Given the description of an element on the screen output the (x, y) to click on. 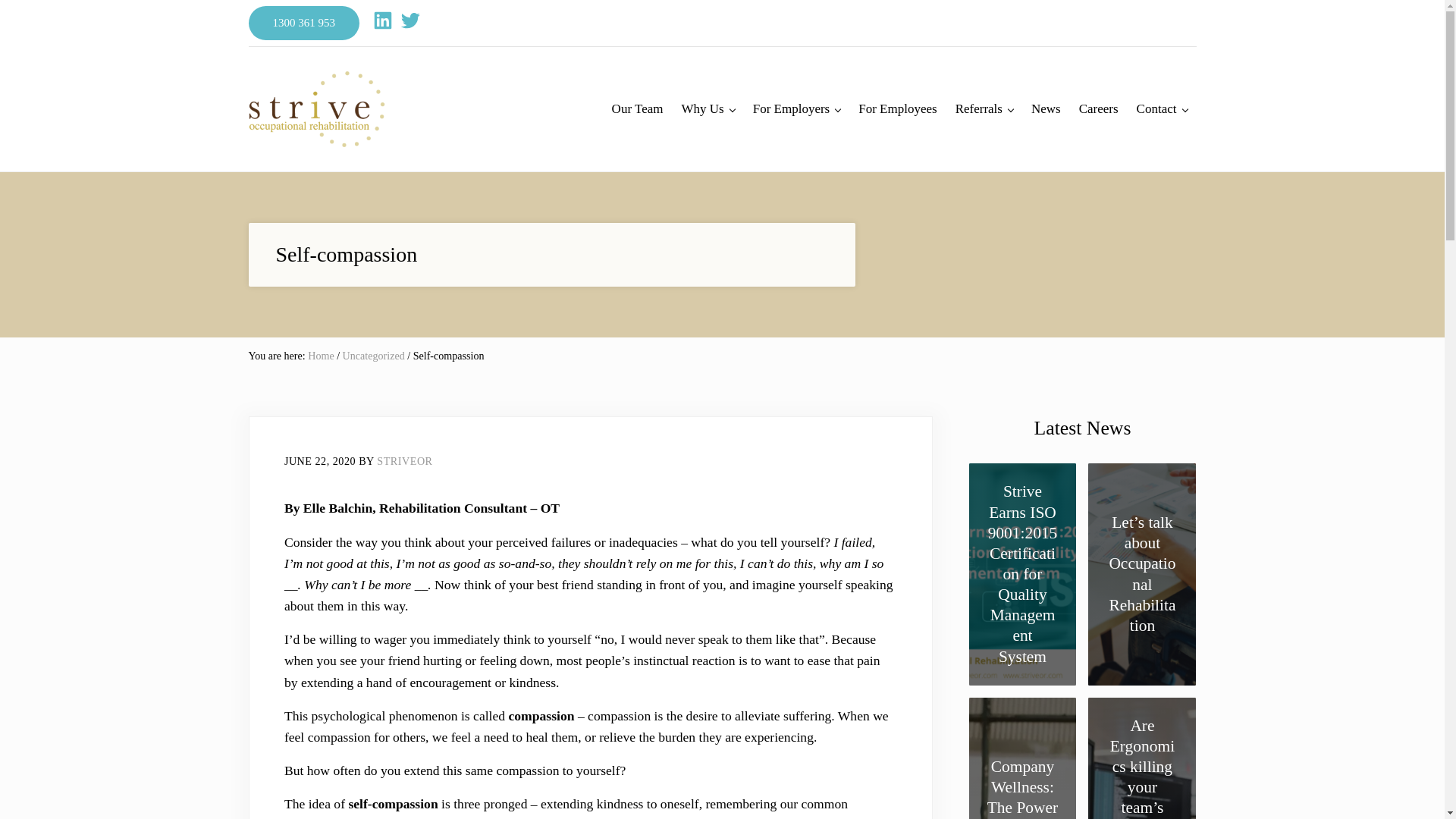
Careers (1098, 109)
1300 361 953 (303, 22)
Referrals (984, 109)
For Employees (896, 109)
News (1046, 109)
Our Team (637, 109)
Why Us (708, 109)
Contact (1161, 109)
Twitter (410, 20)
For Employers (797, 109)
LinkedIn (382, 20)
